Given the description of an element on the screen output the (x, y) to click on. 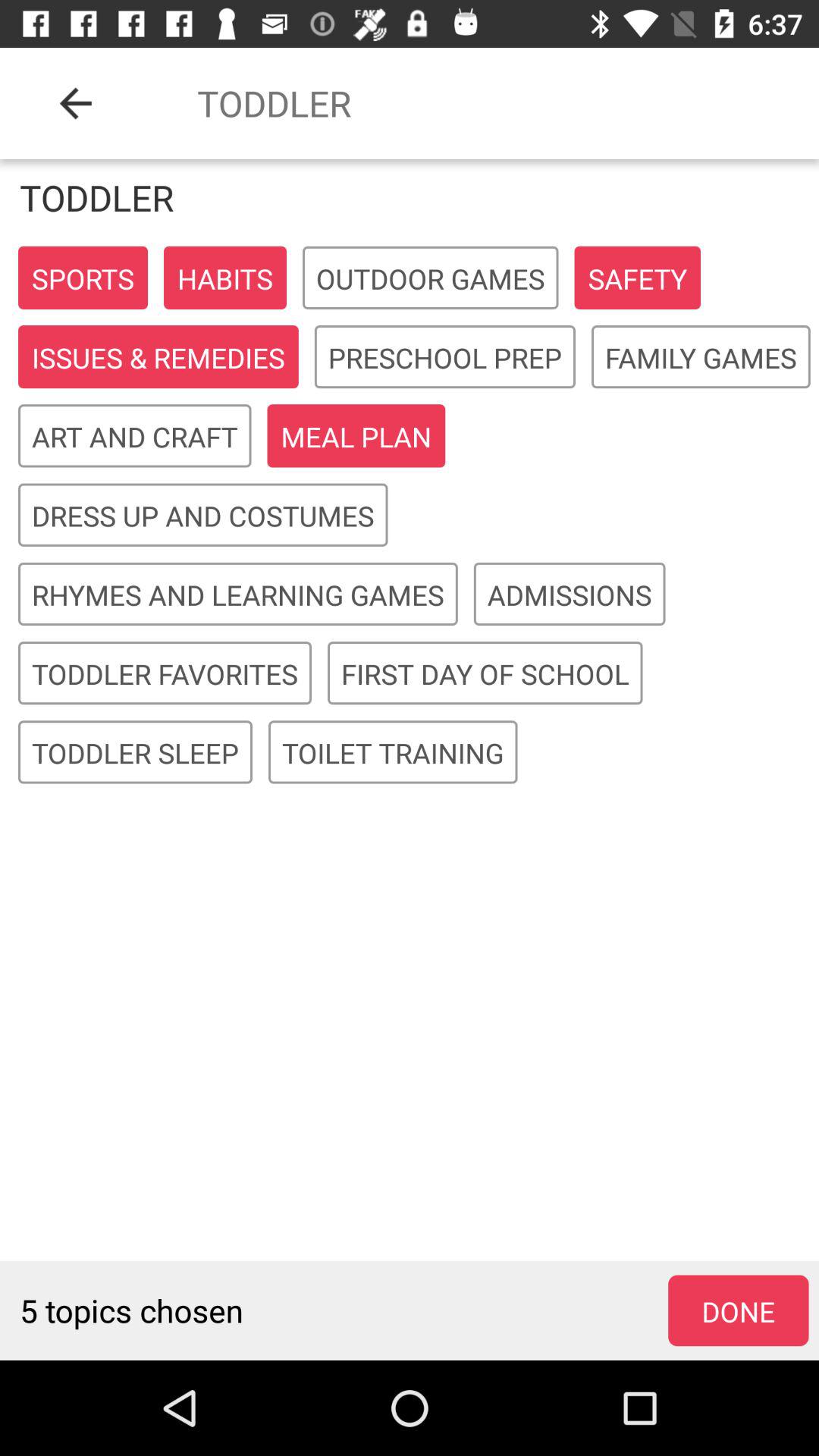
select icon above the toddler item (75, 103)
